Given the description of an element on the screen output the (x, y) to click on. 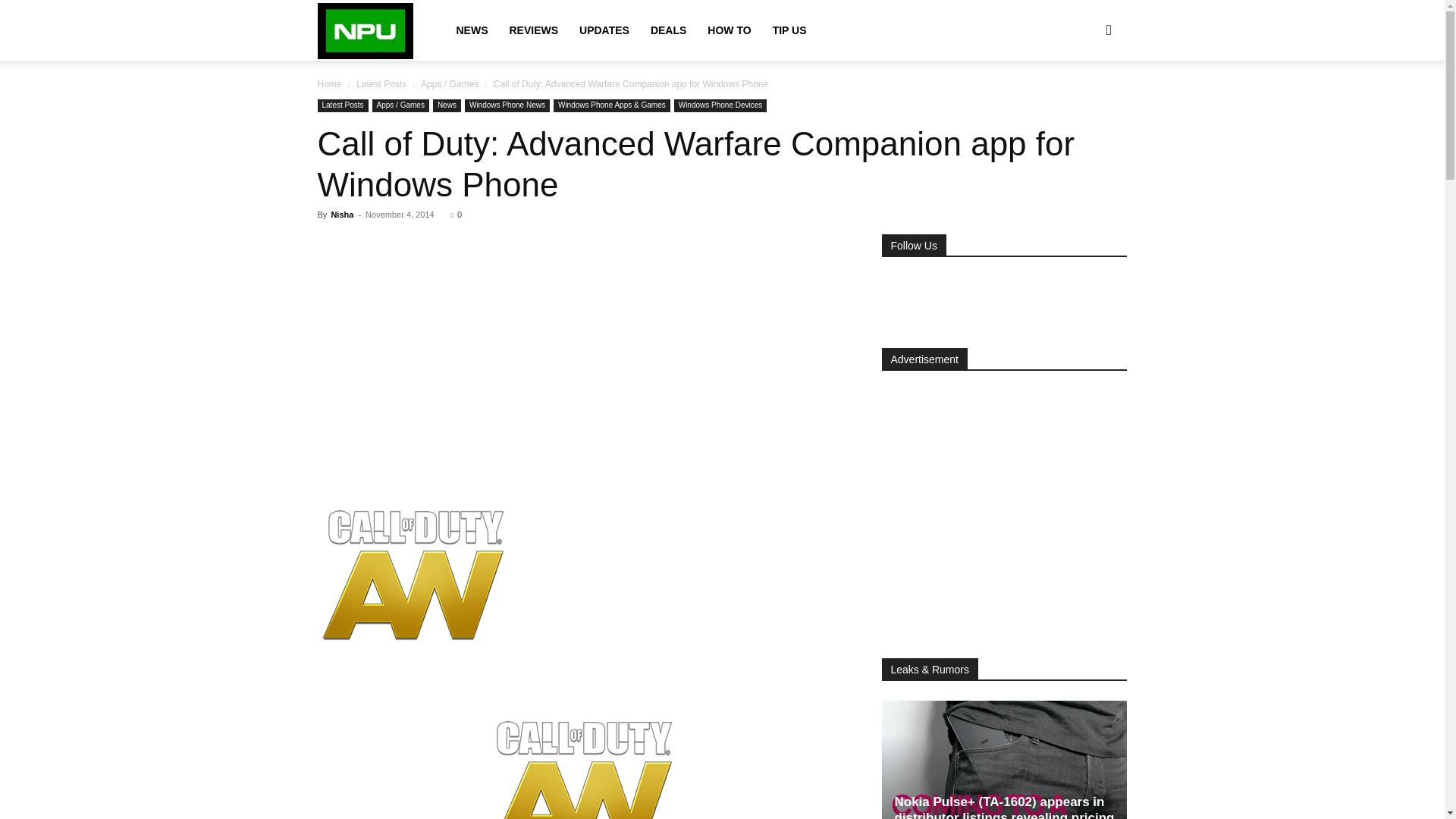
Nokiapoweruser (365, 30)
UPDATES (604, 30)
HOW TO (729, 30)
2363fa0e-f2b2-4030-a362-be2abfd226f8 (412, 584)
Search (1085, 102)
DEALS (668, 30)
Nokiapoweruser logo (365, 30)
REVIEWS (533, 30)
View all posts in Latest Posts (381, 83)
